Given the description of an element on the screen output the (x, y) to click on. 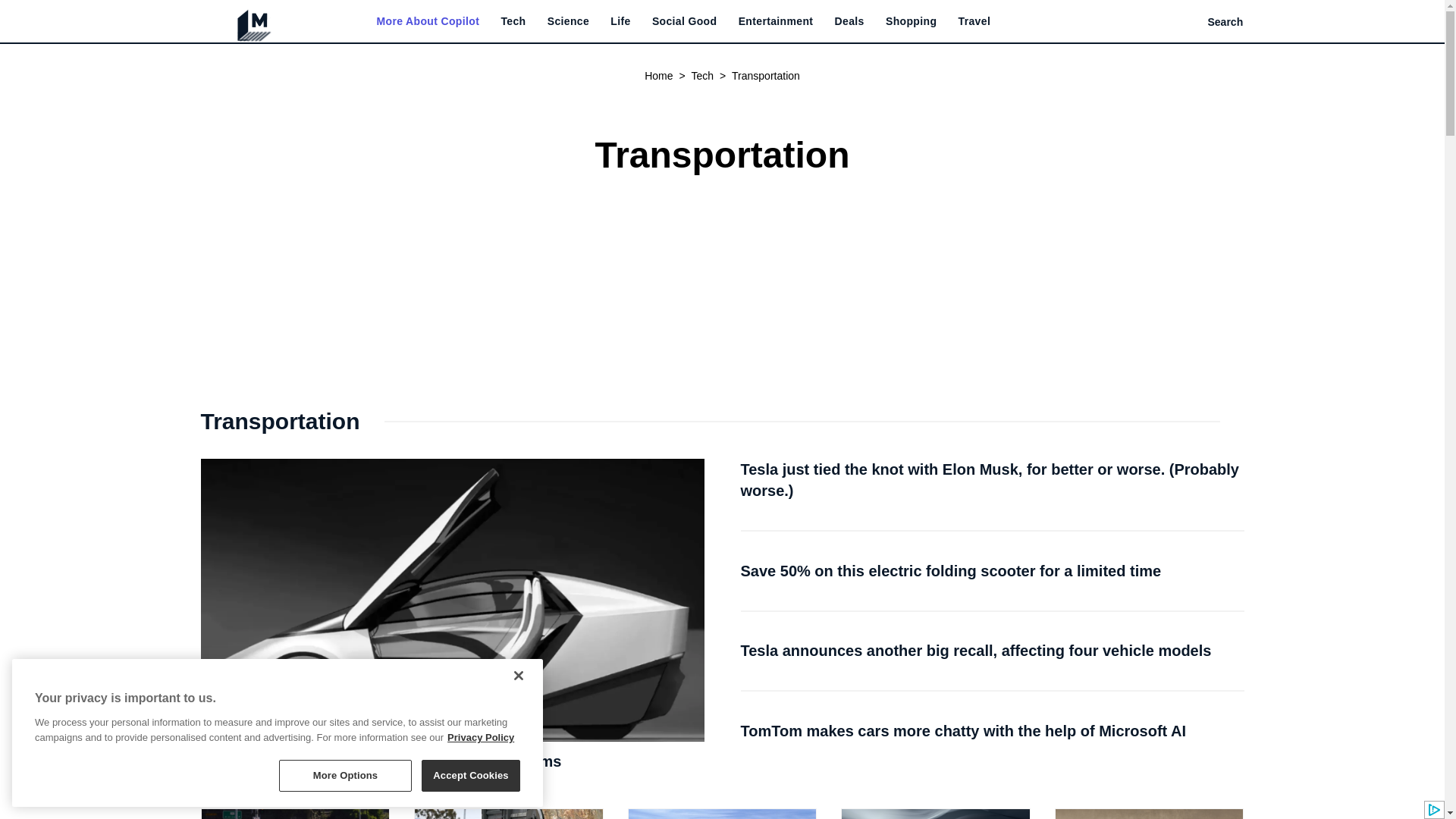
Entertainment (775, 21)
Shopping (910, 21)
Science (568, 21)
Deals (849, 21)
Social Good (684, 21)
More About Copilot (427, 21)
Life (620, 21)
Tech (512, 21)
Travel (974, 21)
